Given the description of an element on the screen output the (x, y) to click on. 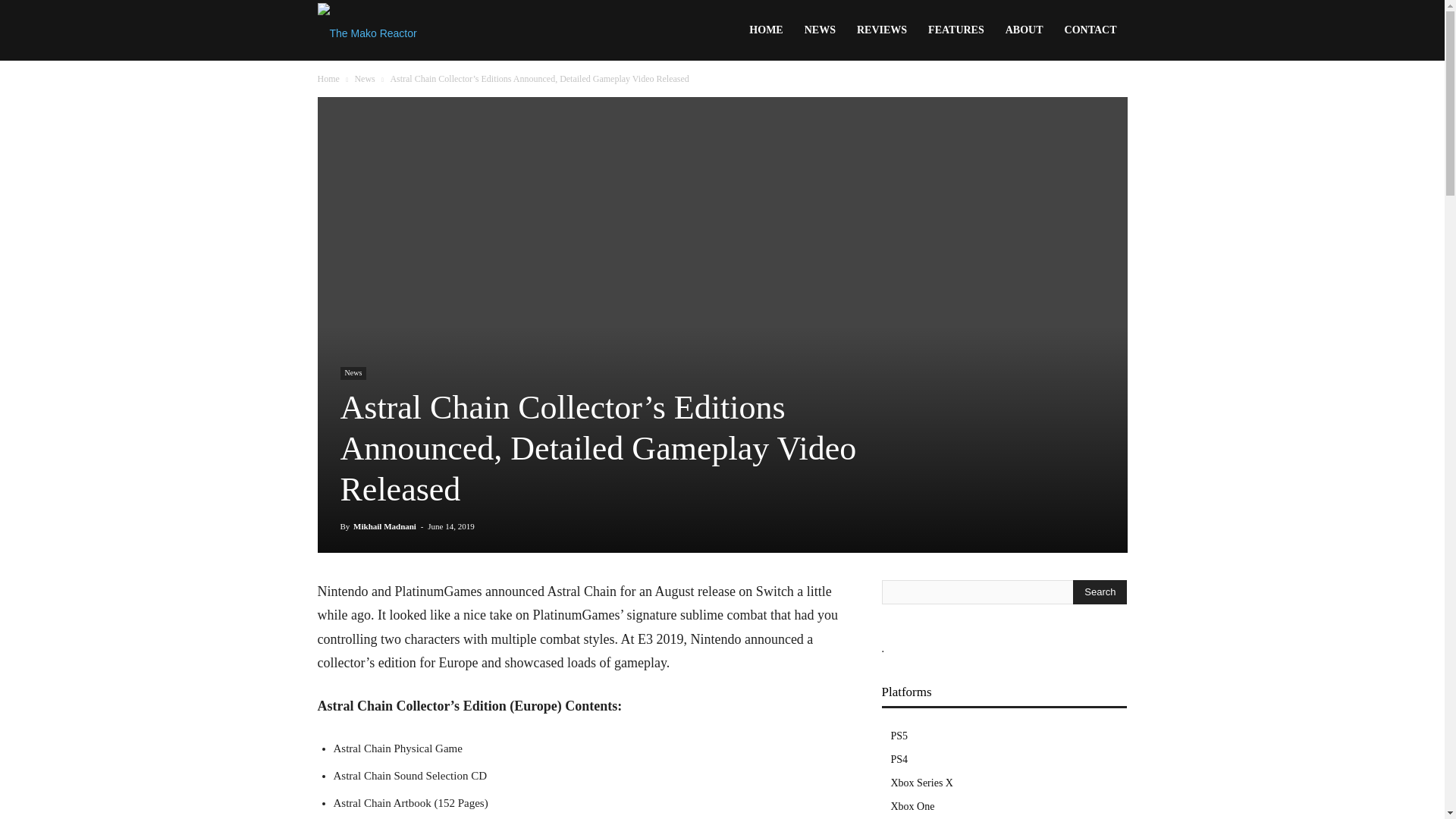
News (363, 78)
Mikhail Madnani (384, 525)
REVIEWS (881, 30)
View all posts in News (363, 78)
CONTACT (1090, 30)
Home (328, 78)
Search (1099, 591)
HOME (765, 30)
ABOUT (1024, 30)
FEATURES (955, 30)
The Mako Reactor (366, 30)
The Mako Reactor (366, 30)
News (352, 373)
